Given the description of an element on the screen output the (x, y) to click on. 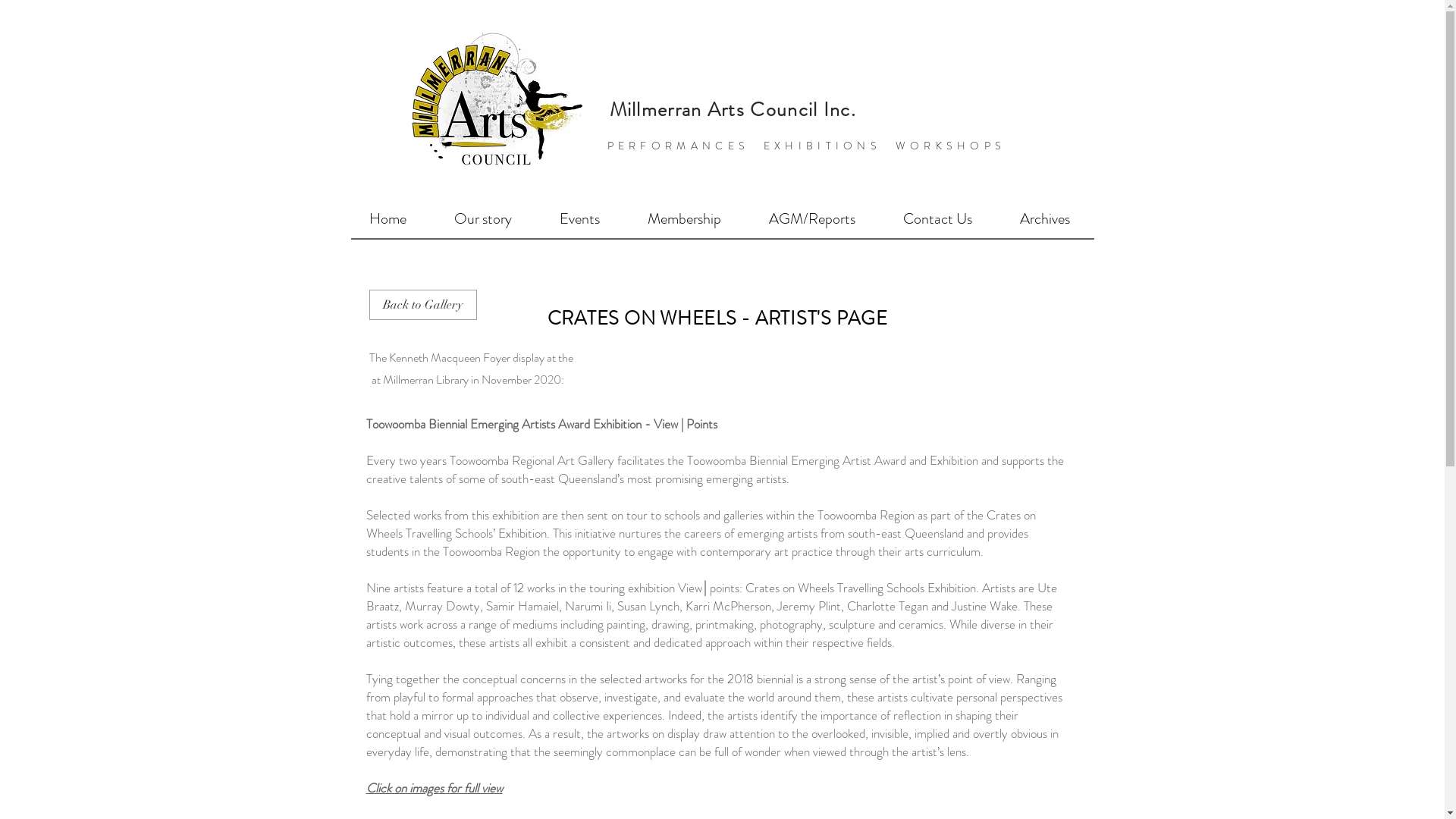
Our story Element type: text (483, 219)
Archives Element type: text (1045, 219)
AGM/Reports Element type: text (811, 219)
Back to Gallery Element type: text (422, 304)
Membership Element type: text (683, 219)
Home Element type: text (386, 219)
Events Element type: text (579, 219)
Contact Us Element type: text (937, 219)
PERFORMANCES  EXHIBITIONS  WORKSHOPS Element type: text (806, 145)
